Given the description of an element on the screen output the (x, y) to click on. 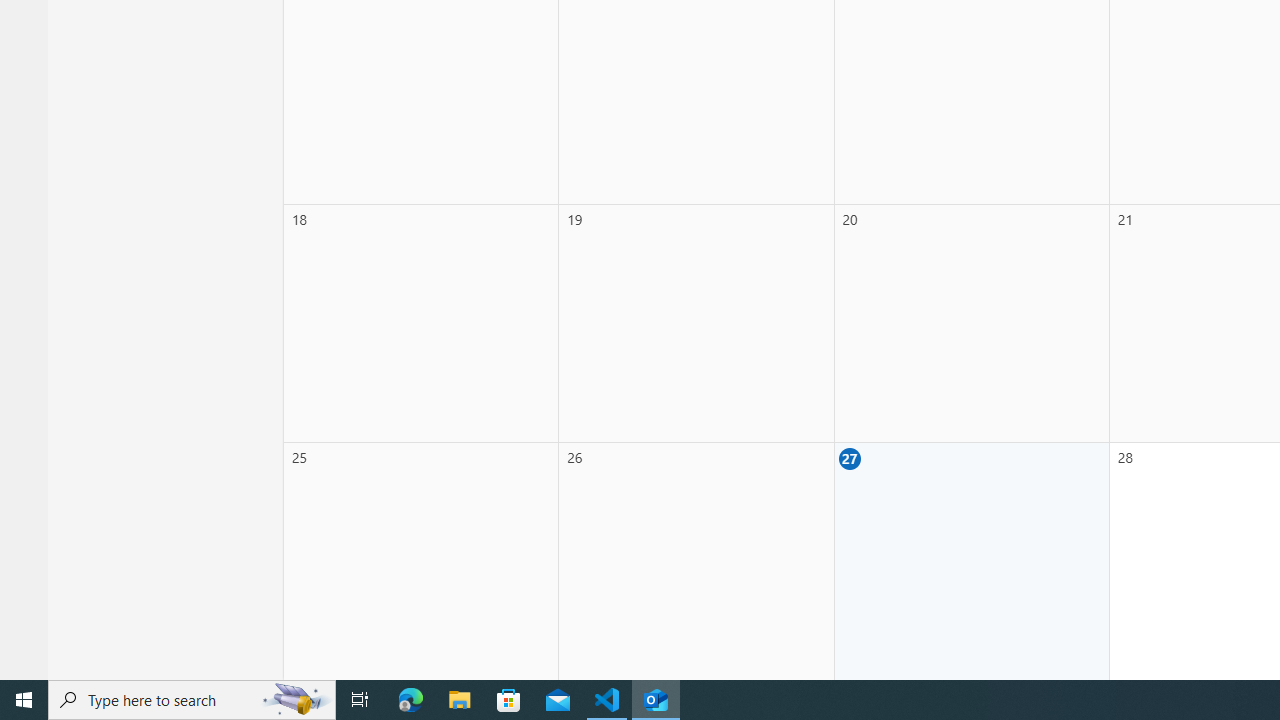
Outlook (new) - 1 running window (656, 699)
